Given the description of an element on the screen output the (x, y) to click on. 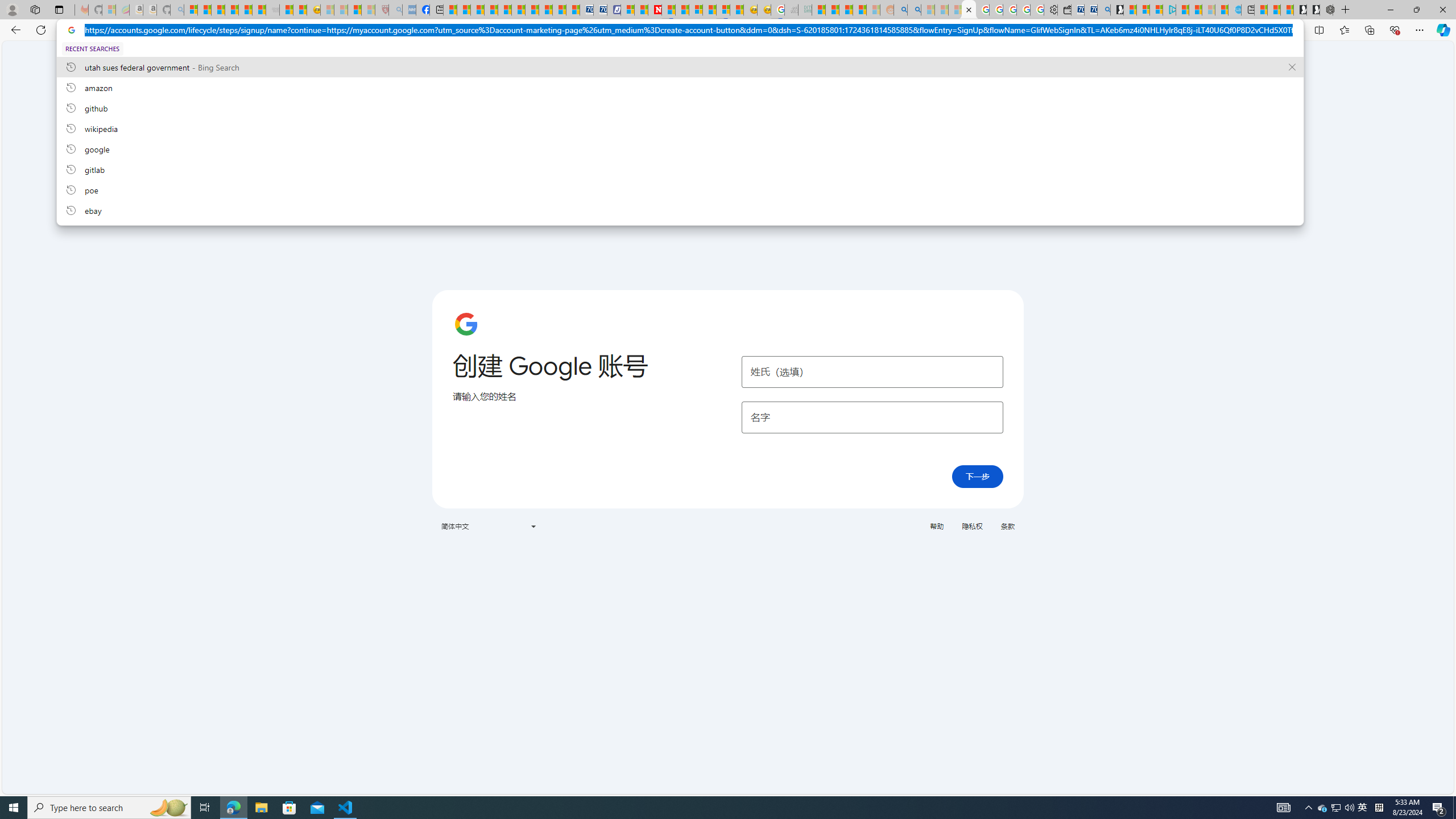
Combat Siege - Sleeping (271, 9)
